Given the description of an element on the screen output the (x, y) to click on. 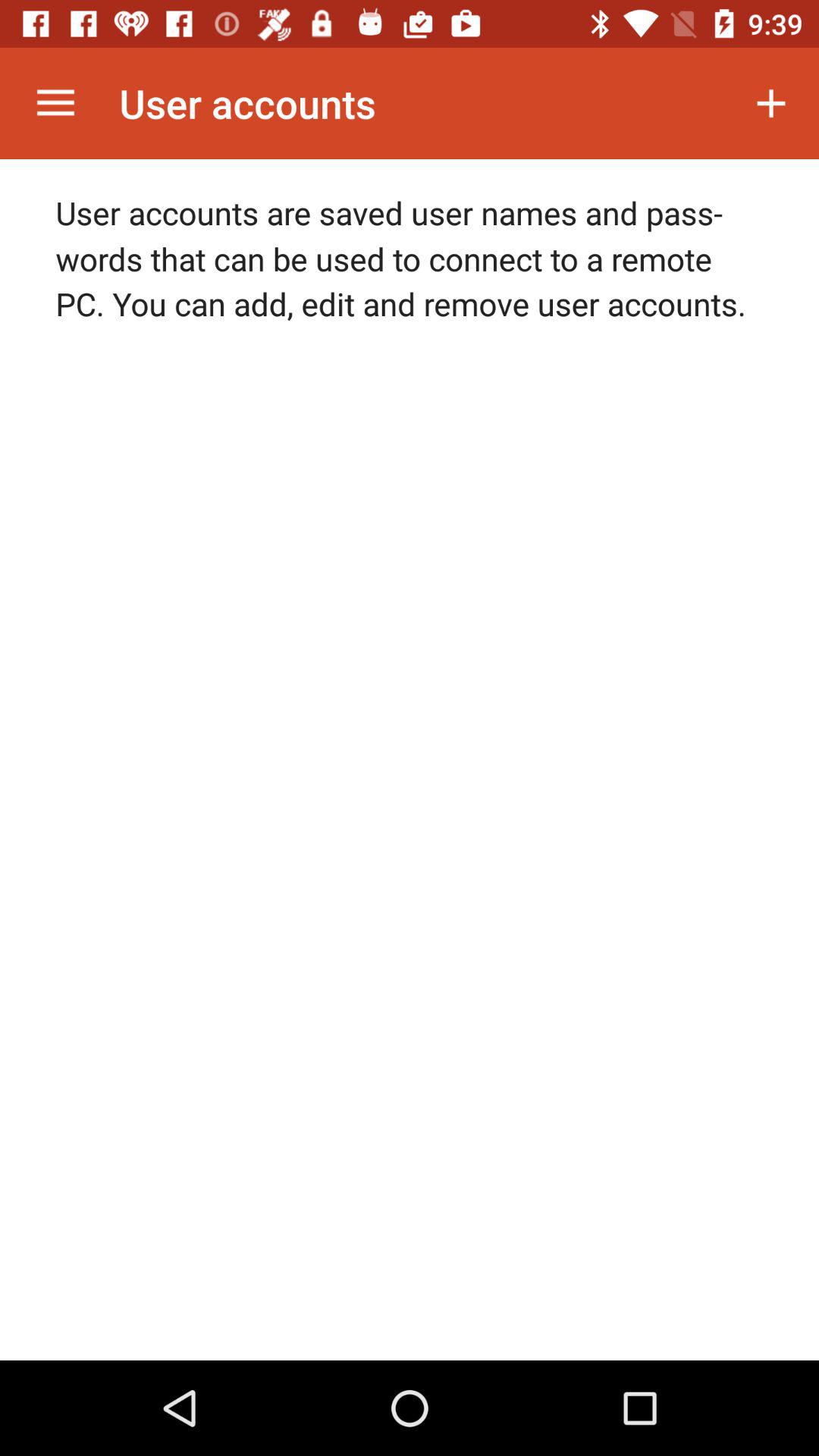
click the icon next to the user accounts icon (55, 103)
